Given the description of an element on the screen output the (x, y) to click on. 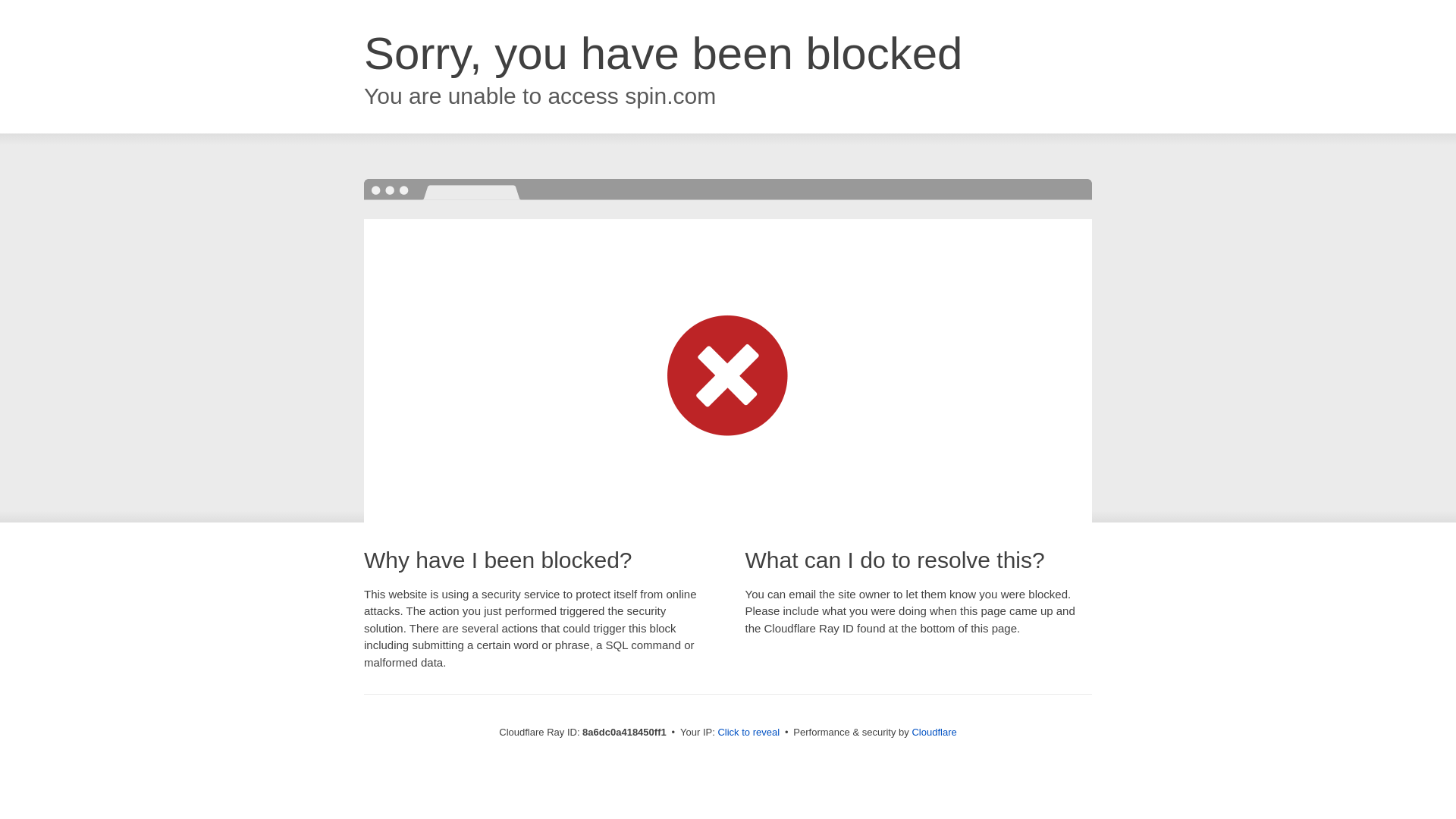
Click to reveal (747, 732)
Cloudflare (933, 731)
